Given the description of an element on the screen output the (x, y) to click on. 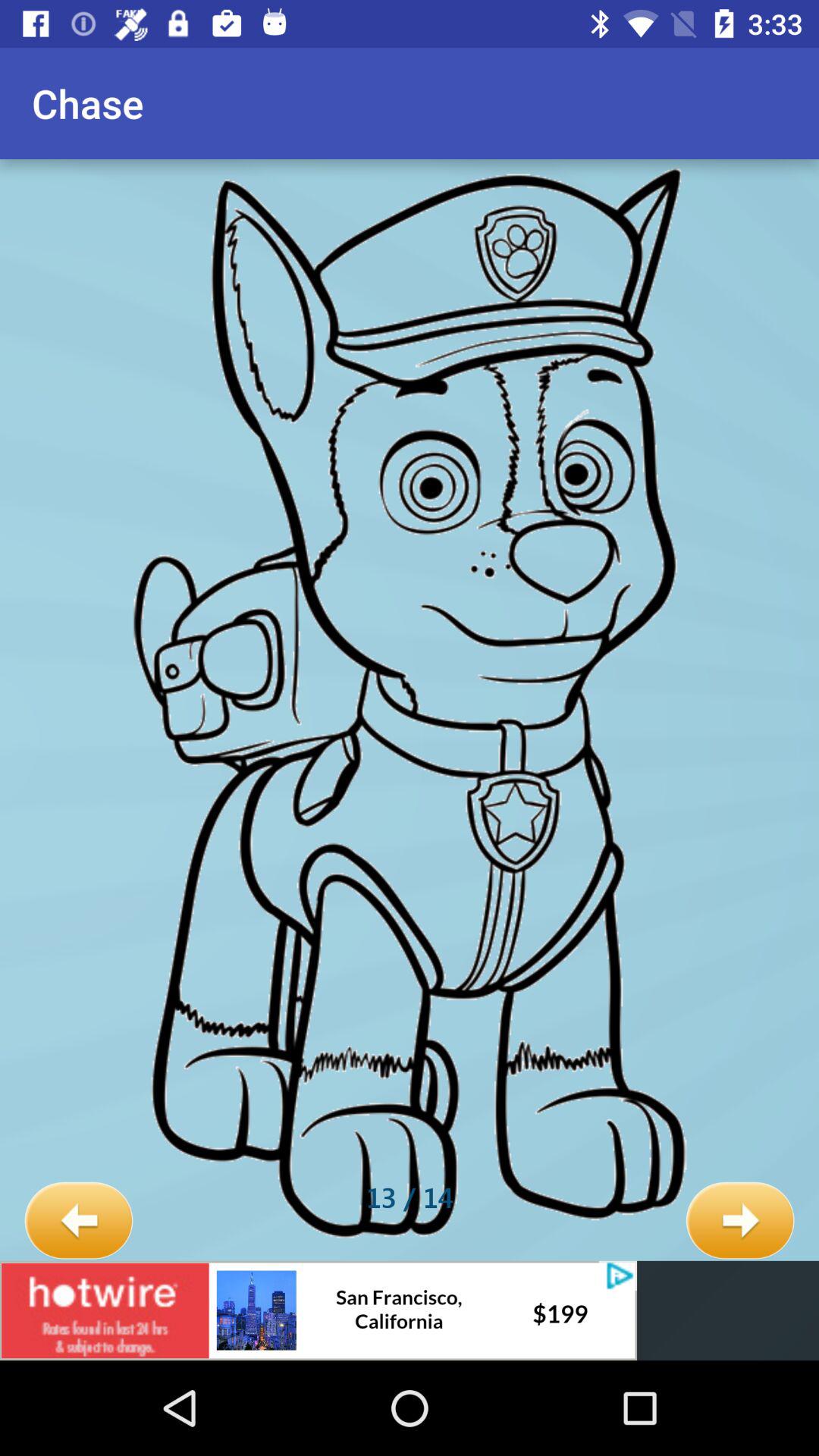
select the icon at the bottom left corner (78, 1220)
